Given the description of an element on the screen output the (x, y) to click on. 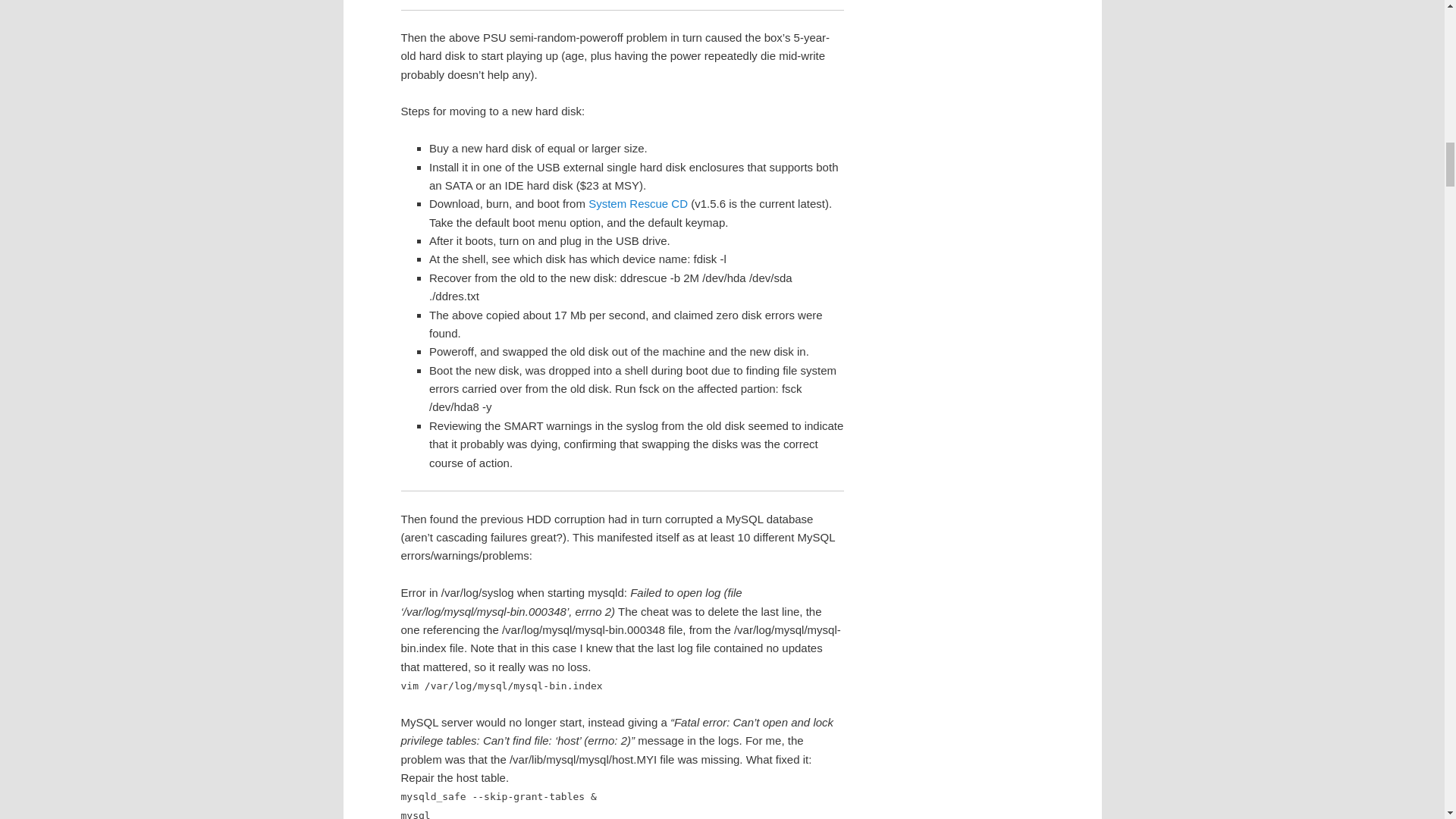
System Rescue CD (637, 203)
